Given the description of an element on the screen output the (x, y) to click on. 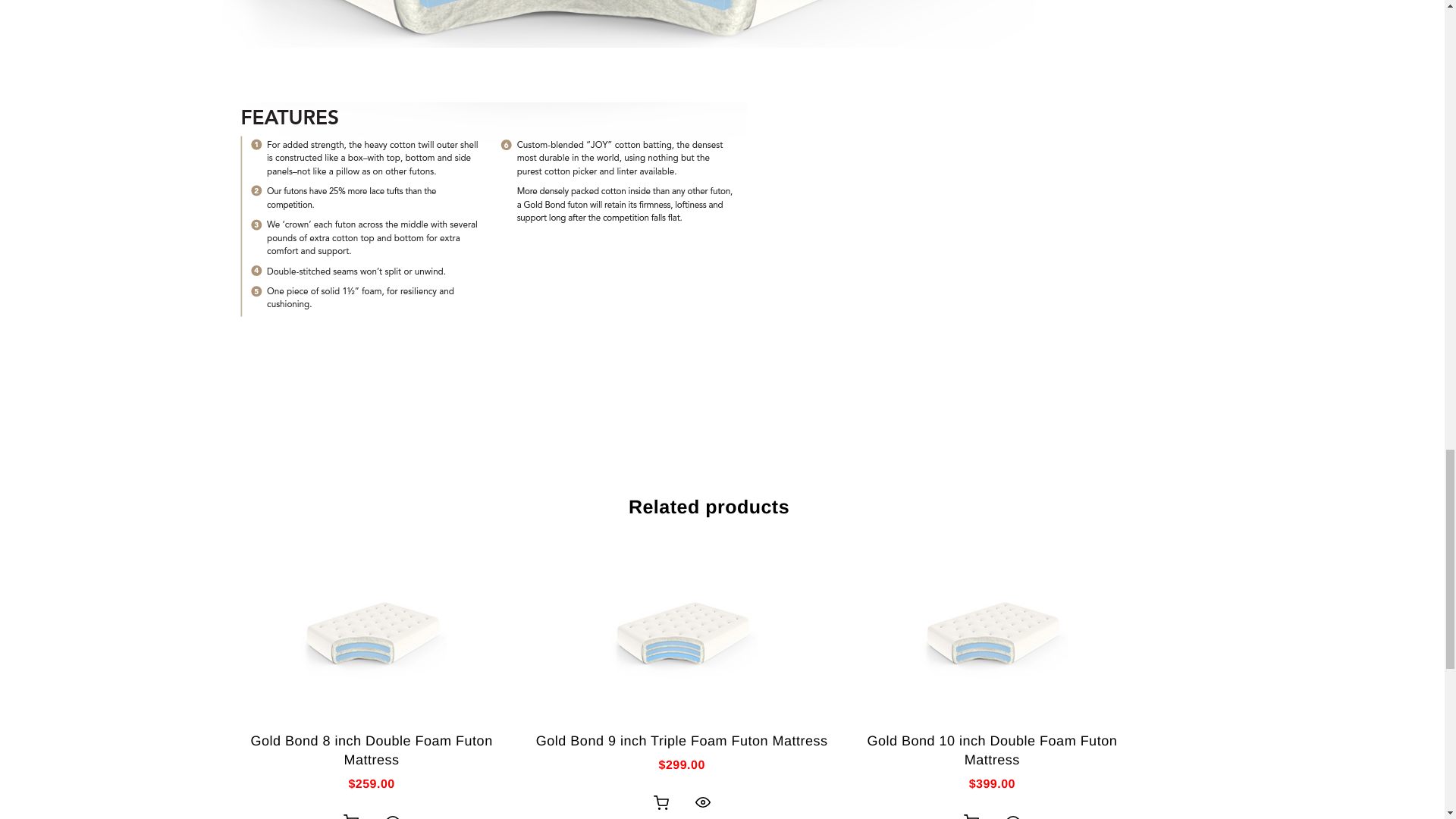
Add to cart (351, 812)
Add to cart (661, 802)
Quick View (702, 801)
Add to cart (971, 812)
Quick View (392, 812)
